Given the description of an element on the screen output the (x, y) to click on. 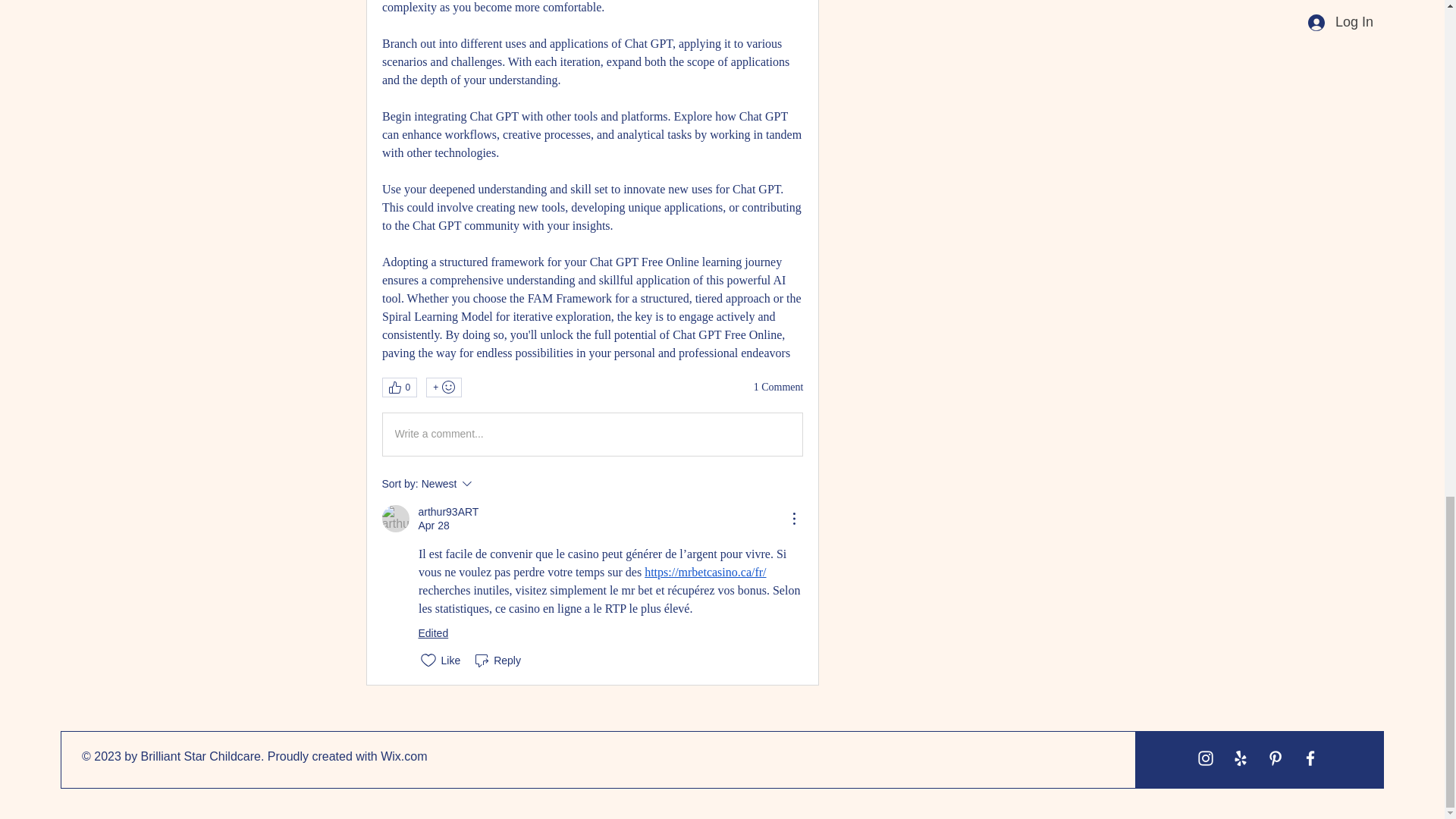
Write a comment... (487, 484)
on (591, 434)
on (778, 387)
arthur93ART (449, 512)
Reply (395, 518)
Wix.com (496, 660)
